Given the description of an element on the screen output the (x, y) to click on. 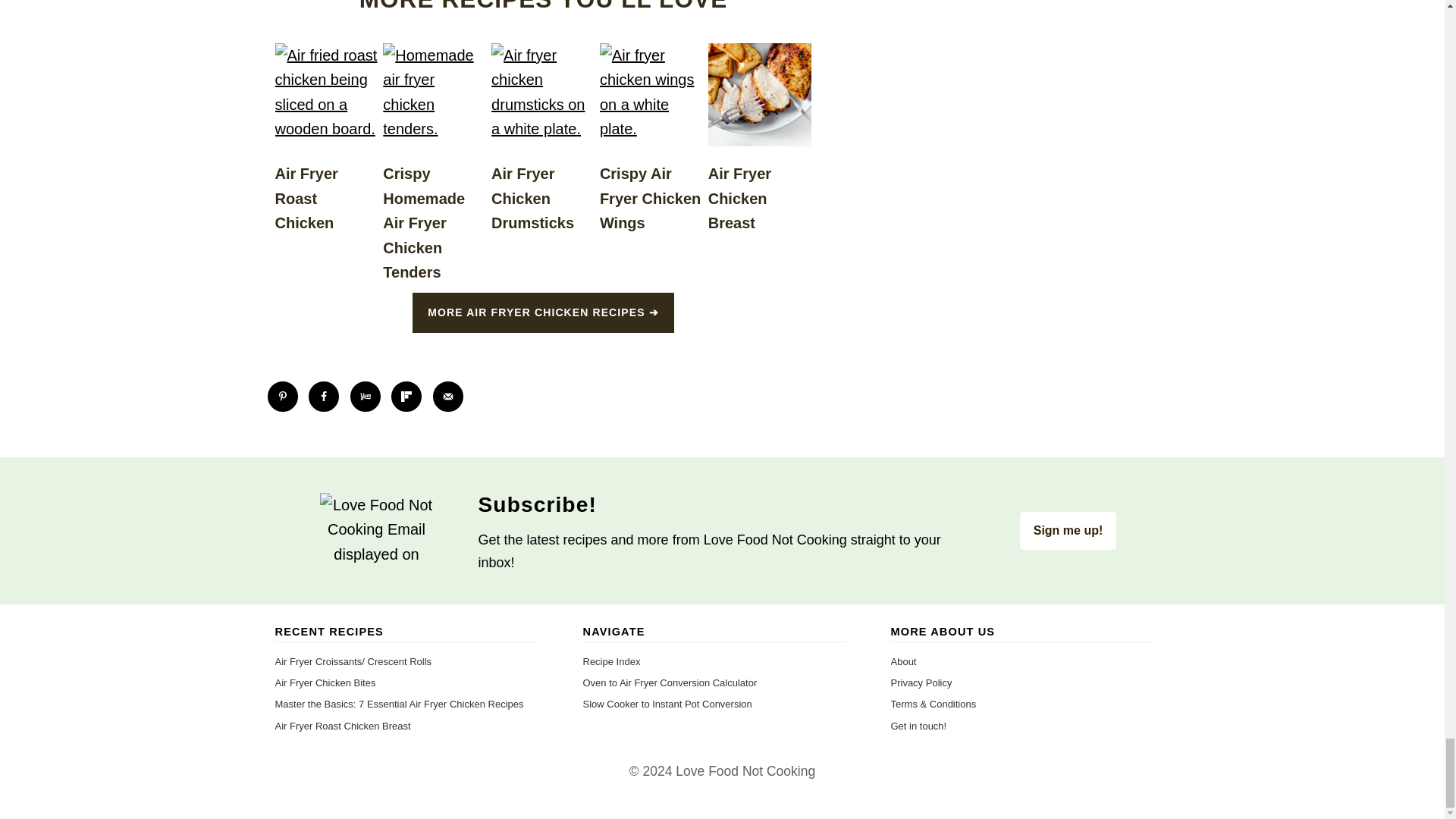
Share on Yummly (365, 396)
Save to Pinterest (281, 396)
Share on Flipboard (406, 396)
Share on Facebook (323, 396)
Send over email (447, 396)
